Given the description of an element on the screen output the (x, y) to click on. 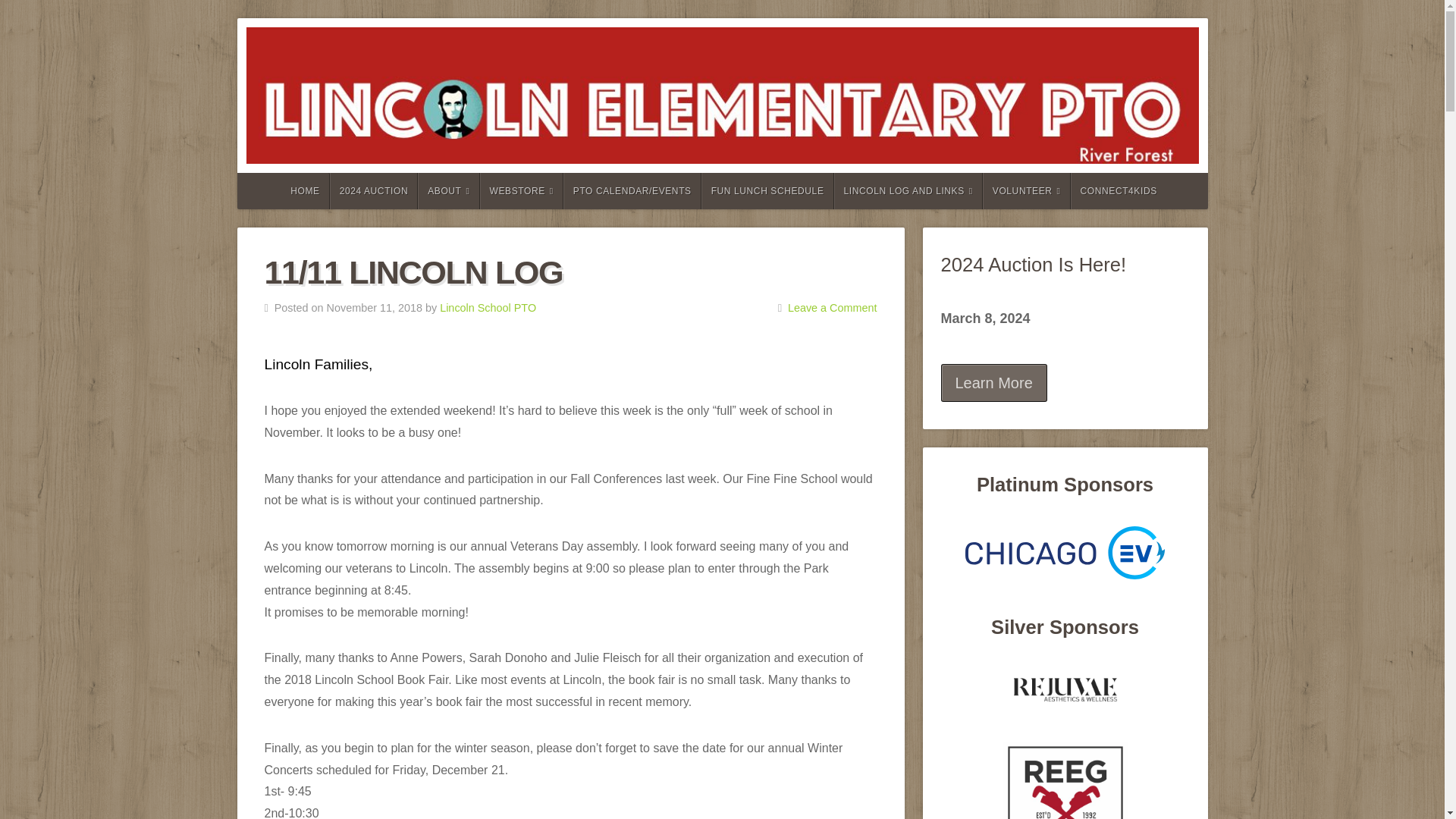
Leave a Comment (832, 307)
Lincoln School PTO (487, 307)
CONNECT4KIDS (1118, 190)
2024 AUCTION (374, 190)
VOLUNTEER (1026, 190)
ABOUT (448, 190)
HOME (303, 190)
Posts by Lincoln School PTO (487, 307)
LINCOLN LOG AND LINKS (908, 190)
Leave a Comment (832, 307)
